Given the description of an element on the screen output the (x, y) to click on. 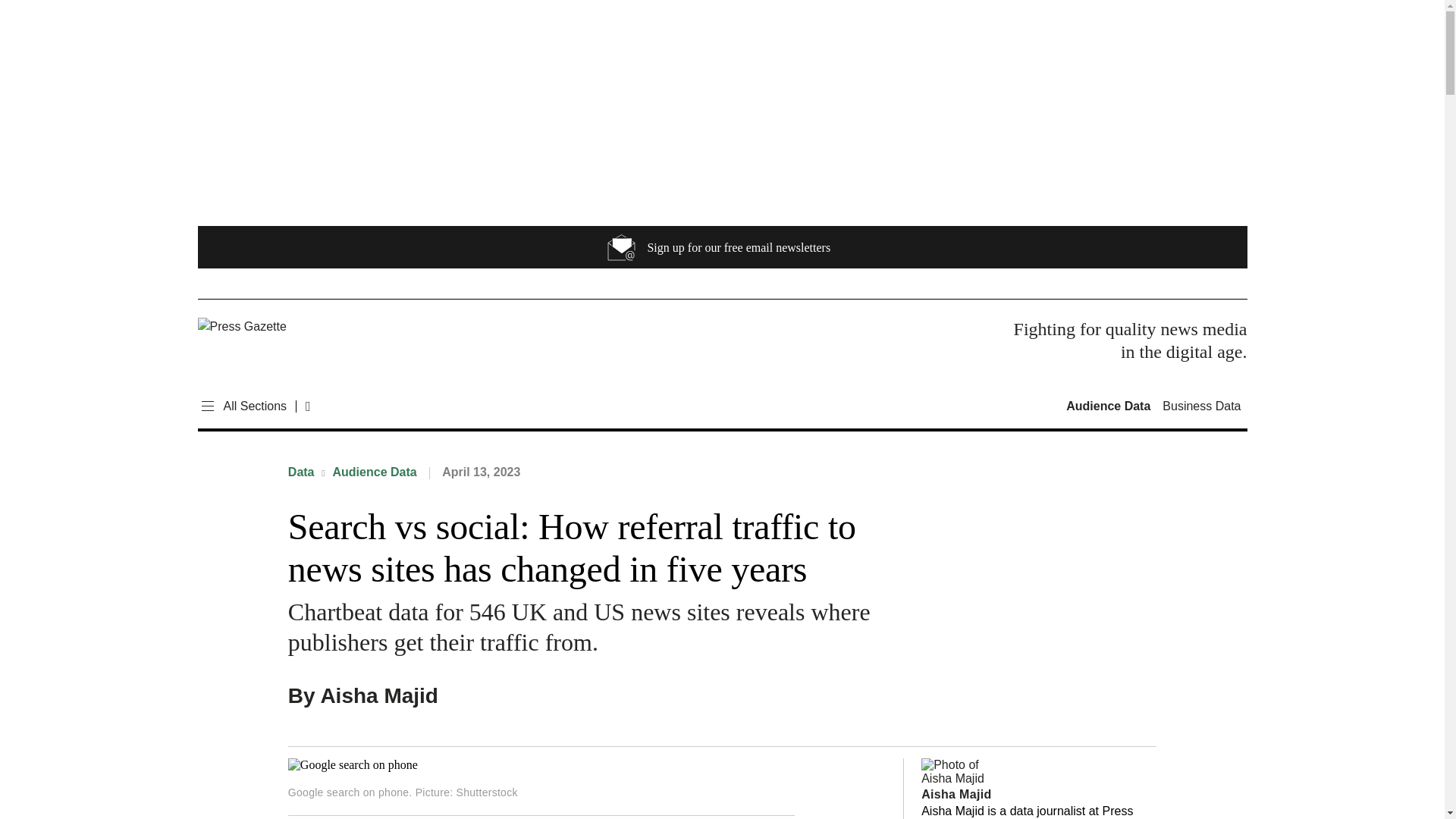
Press Gazette  (301, 326)
Audience Data (1110, 406)
All Sections (241, 406)
Business Data (1201, 406)
